Given the description of an element on the screen output the (x, y) to click on. 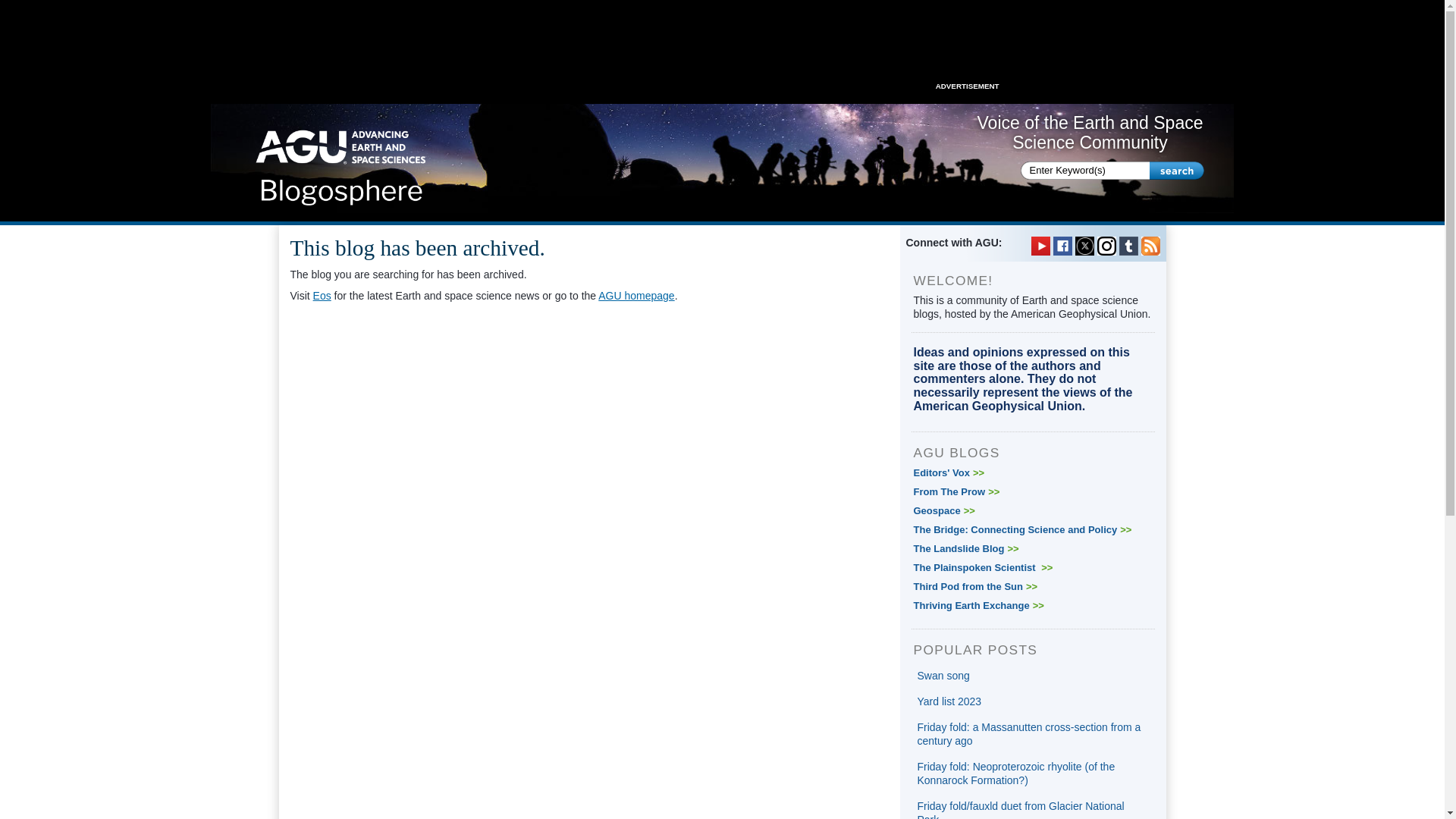
Swan song (943, 675)
Yard list 2023 (949, 701)
Friday fold: a Massanutten cross-section from a century ago (1029, 733)
Eos (322, 295)
Swan song (943, 675)
AGU homepage (636, 295)
Home (341, 162)
3rd party ad content (721, 45)
Yard list 2023 (949, 701)
Friday fold: a Massanutten cross-section from a century ago (1029, 733)
